Given the description of an element on the screen output the (x, y) to click on. 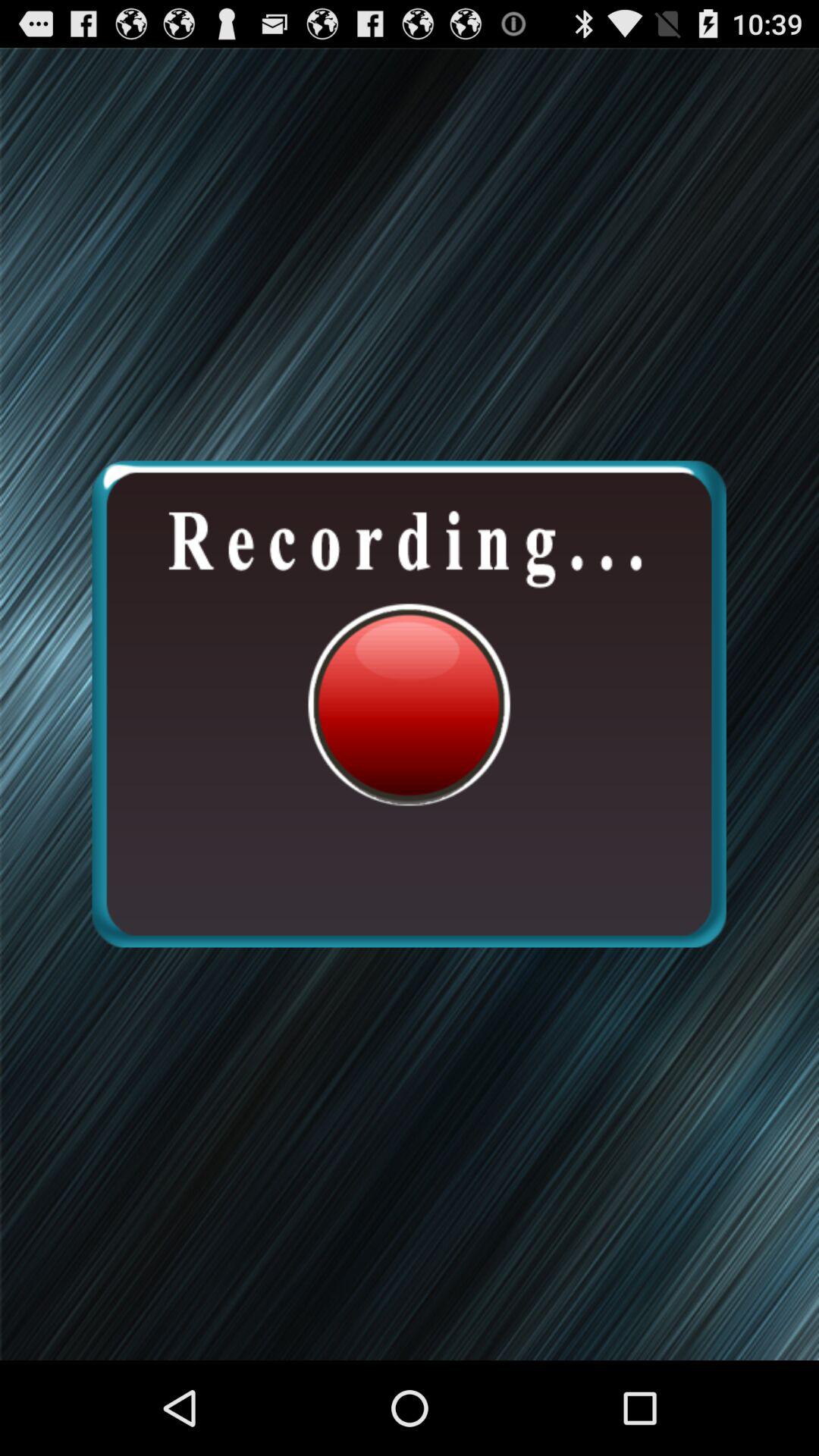
toggle recording (409, 703)
